Given the description of an element on the screen output the (x, y) to click on. 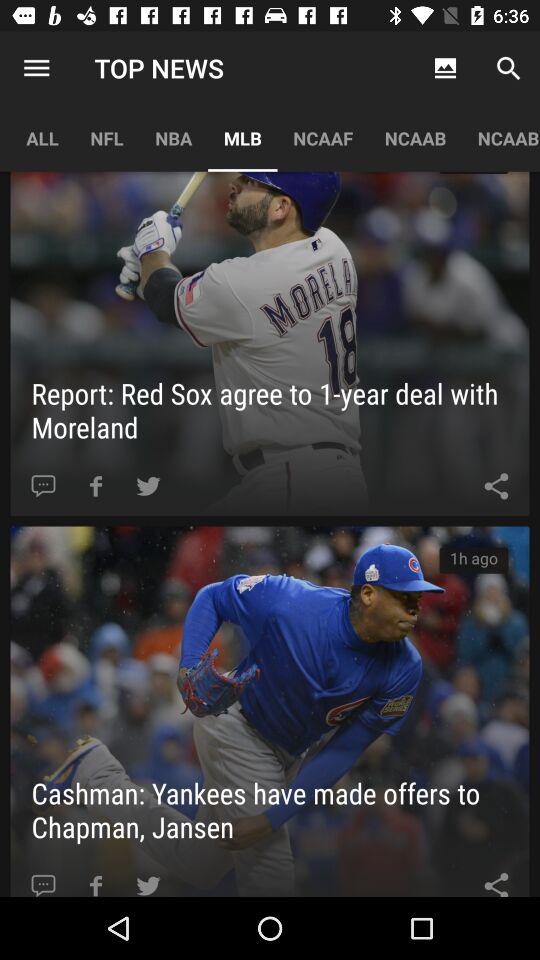
turn off the app next to nfl app (36, 68)
